Given the description of an element on the screen output the (x, y) to click on. 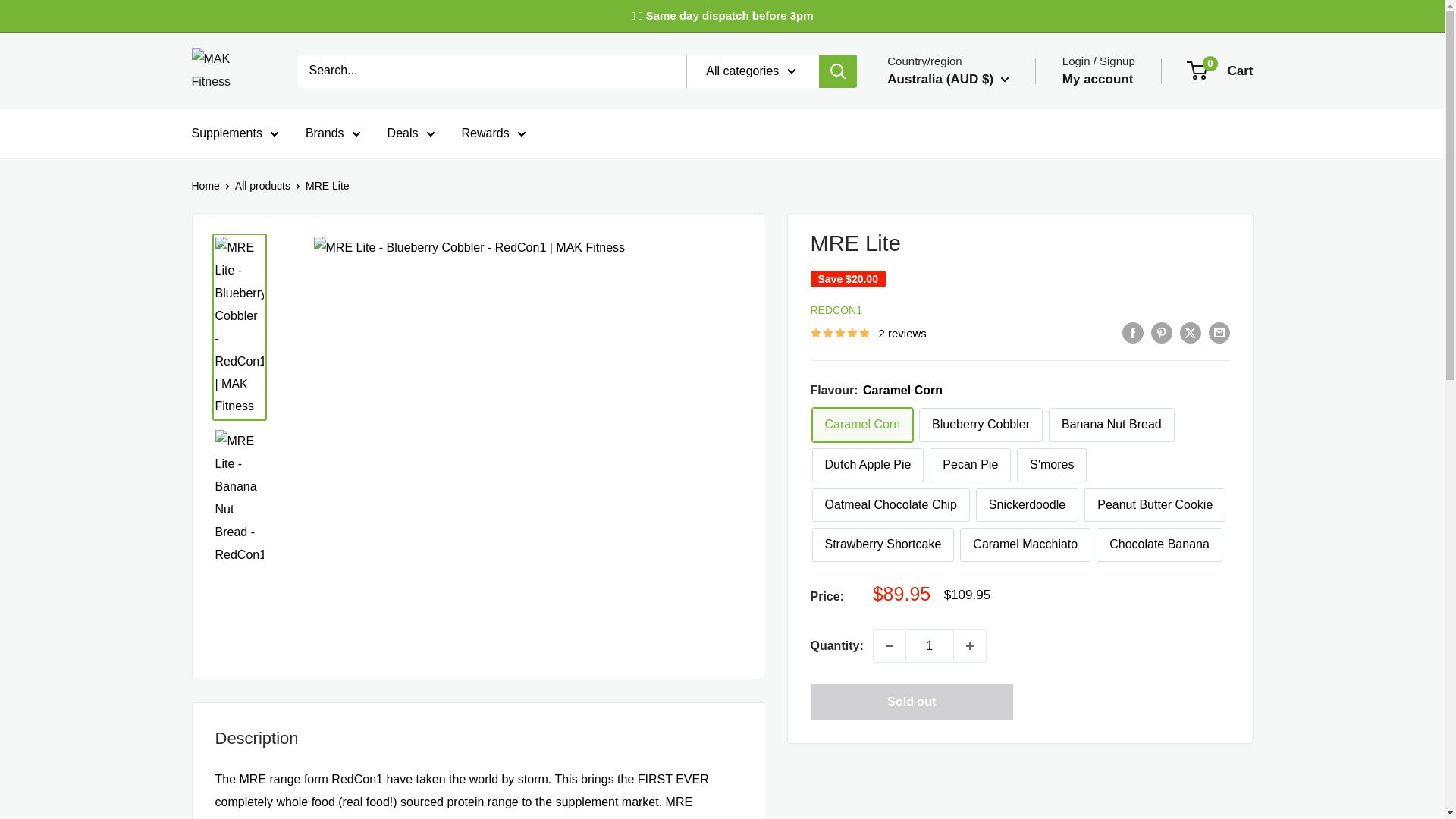
Caramel Macchiato (1024, 544)
Dutch Apple Pie (866, 464)
Oatmeal Chocolate Chip (889, 505)
1 (929, 645)
Pecan Pie (970, 464)
Peanut Butter Cookie (1154, 505)
Snickerdoodle (1026, 505)
Increase quantity by 1 (969, 645)
S'mores (1051, 464)
Chocolate Banana (1159, 544)
